Given the description of an element on the screen output the (x, y) to click on. 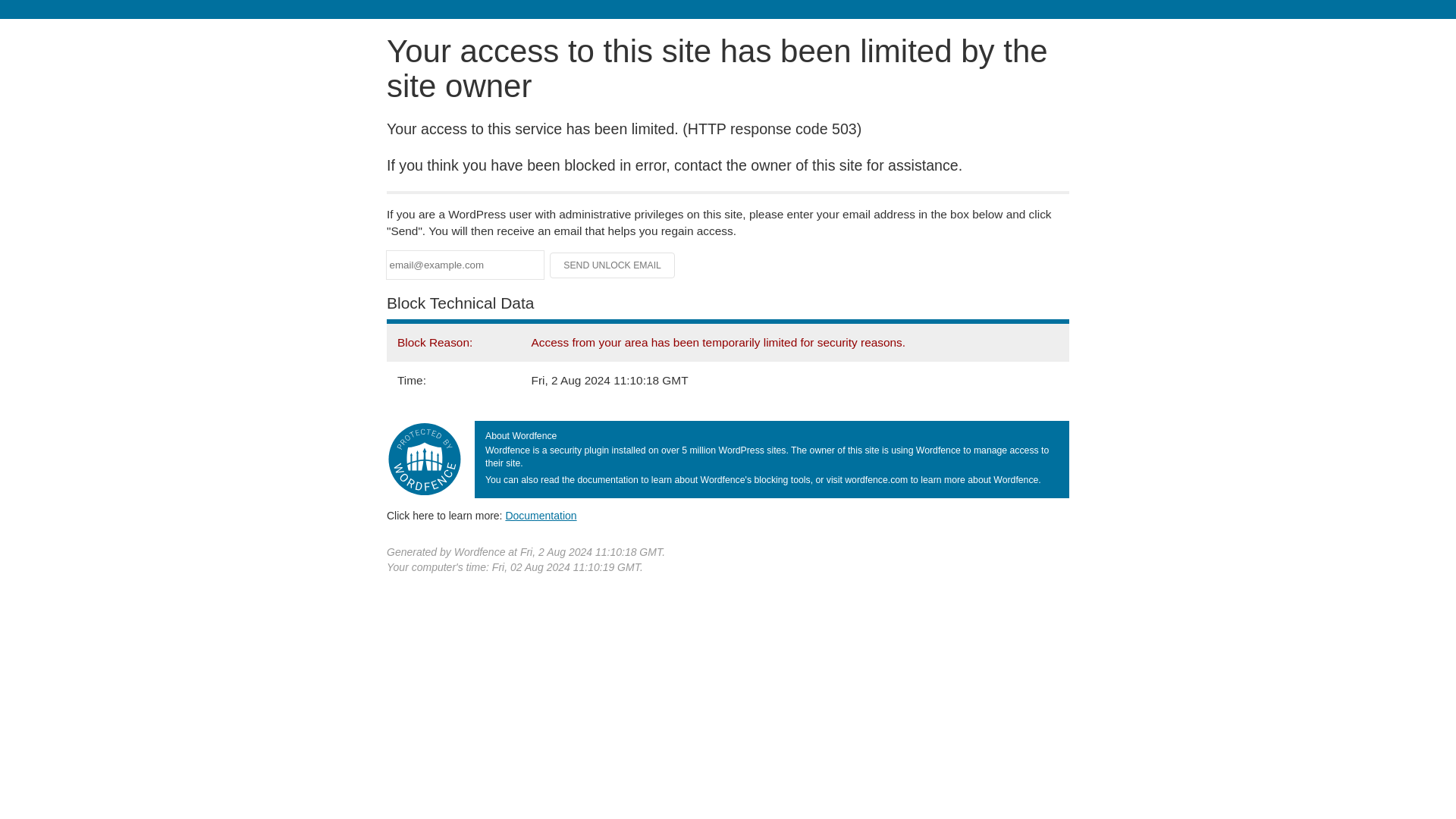
Documentation (540, 515)
Send Unlock Email (612, 265)
Send Unlock Email (612, 265)
